Given the description of an element on the screen output the (x, y) to click on. 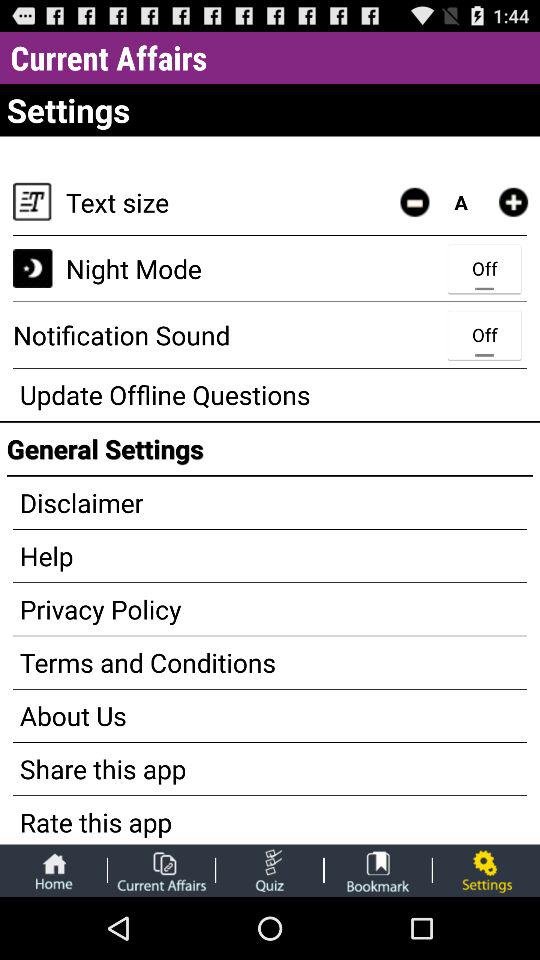
select the help app (270, 555)
